Given the description of an element on the screen output the (x, y) to click on. 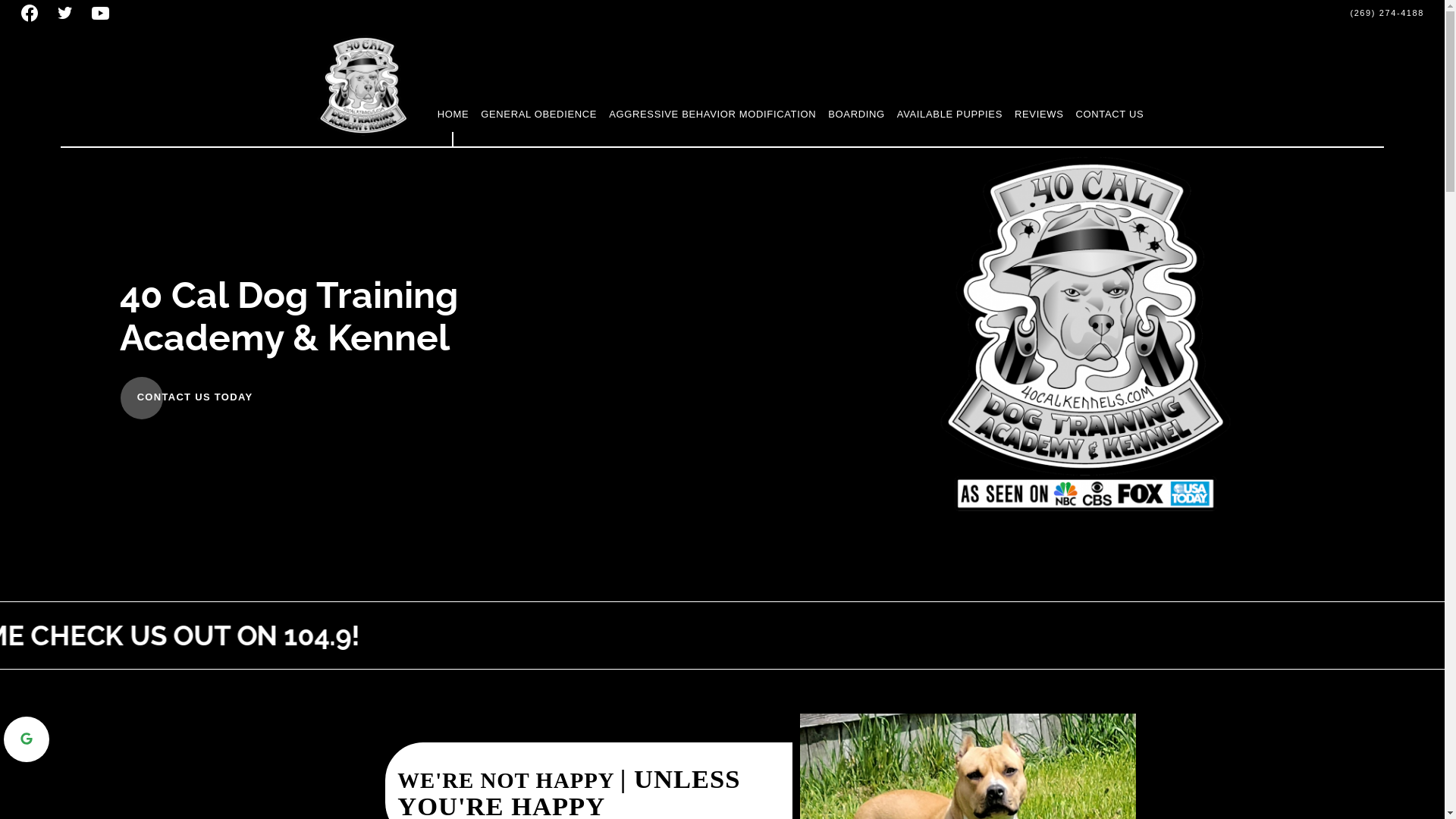
BOARDING Element type: text (856, 114)
REVIEWS Element type: text (1039, 114)
Twitter Element type: hover (64, 13)
YouTube Element type: hover (100, 13)
HOME Element type: text (453, 114)
Facebook Element type: hover (29, 13)
GENERAL OBEDIENCE Element type: text (538, 114)
(269) 274-4188 Element type: text (1379, 13)
AVAILABLE PUPPIES Element type: text (949, 114)
CONTACT US Element type: text (1110, 114)
AGGRESSIVE BEHAVIOR MODIFICATION Element type: text (712, 114)
40 Cal Dog Training Academy & Kennel
CONTACT US TODAY Element type: text (408, 346)
